Given the description of an element on the screen output the (x, y) to click on. 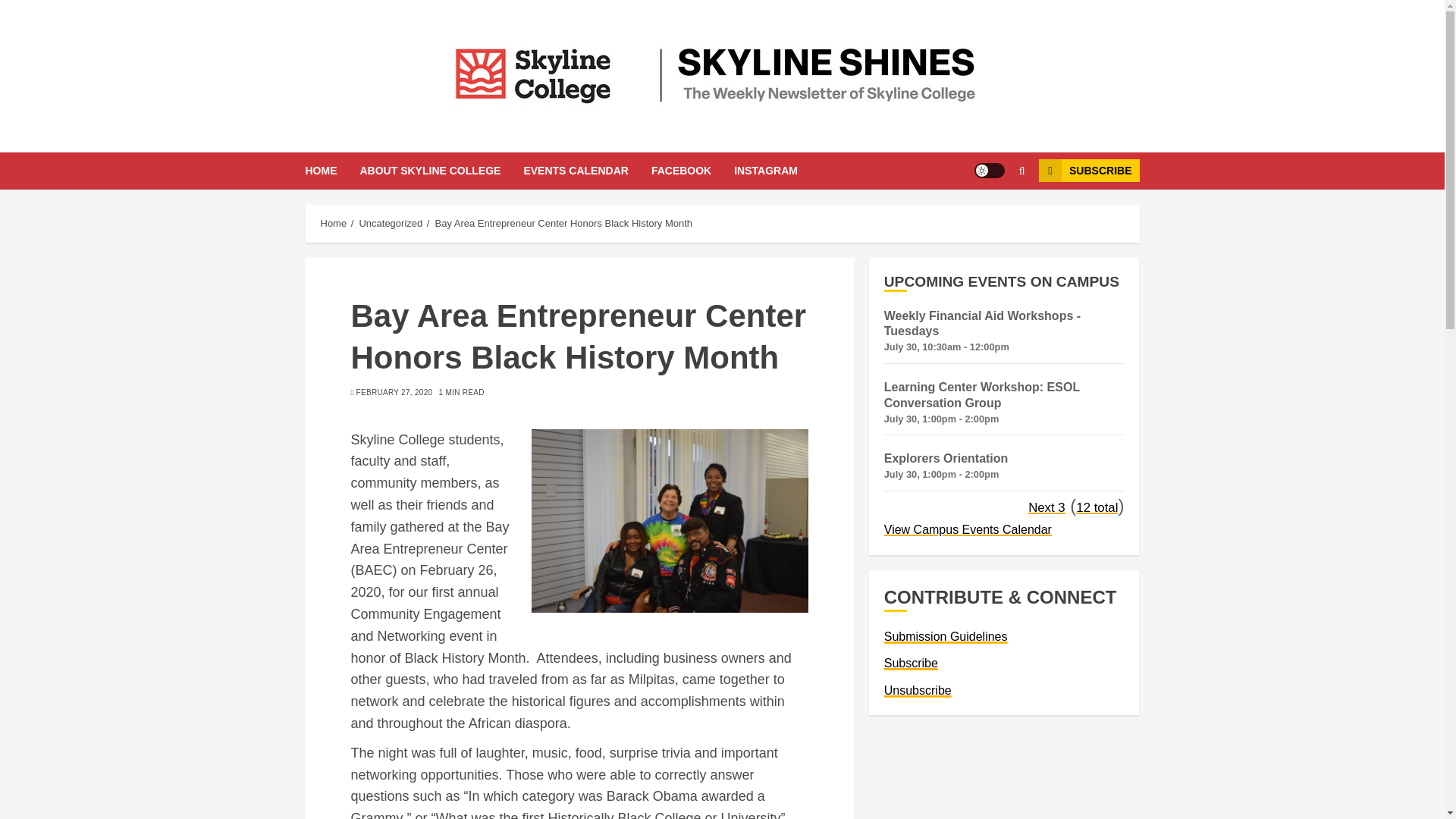
Next 3 (1046, 507)
INSTAGRAM (765, 170)
View Campus Events Calendar (967, 529)
Bay Area Entrepreneur Center Honors Black History Month (563, 223)
Search (991, 216)
Explorers Orientation (946, 458)
EVENTS CALENDAR (586, 170)
FEBRUARY 27, 2020 (394, 392)
Submission Guidelines (945, 636)
FACEBOOK (691, 170)
Uncategorized (390, 223)
SUBSCRIBE (1088, 169)
Unsubscribe (917, 690)
12 total (1096, 507)
UPCOMING EVENTS ON CAMPUS (1003, 281)
